Given the description of an element on the screen output the (x, y) to click on. 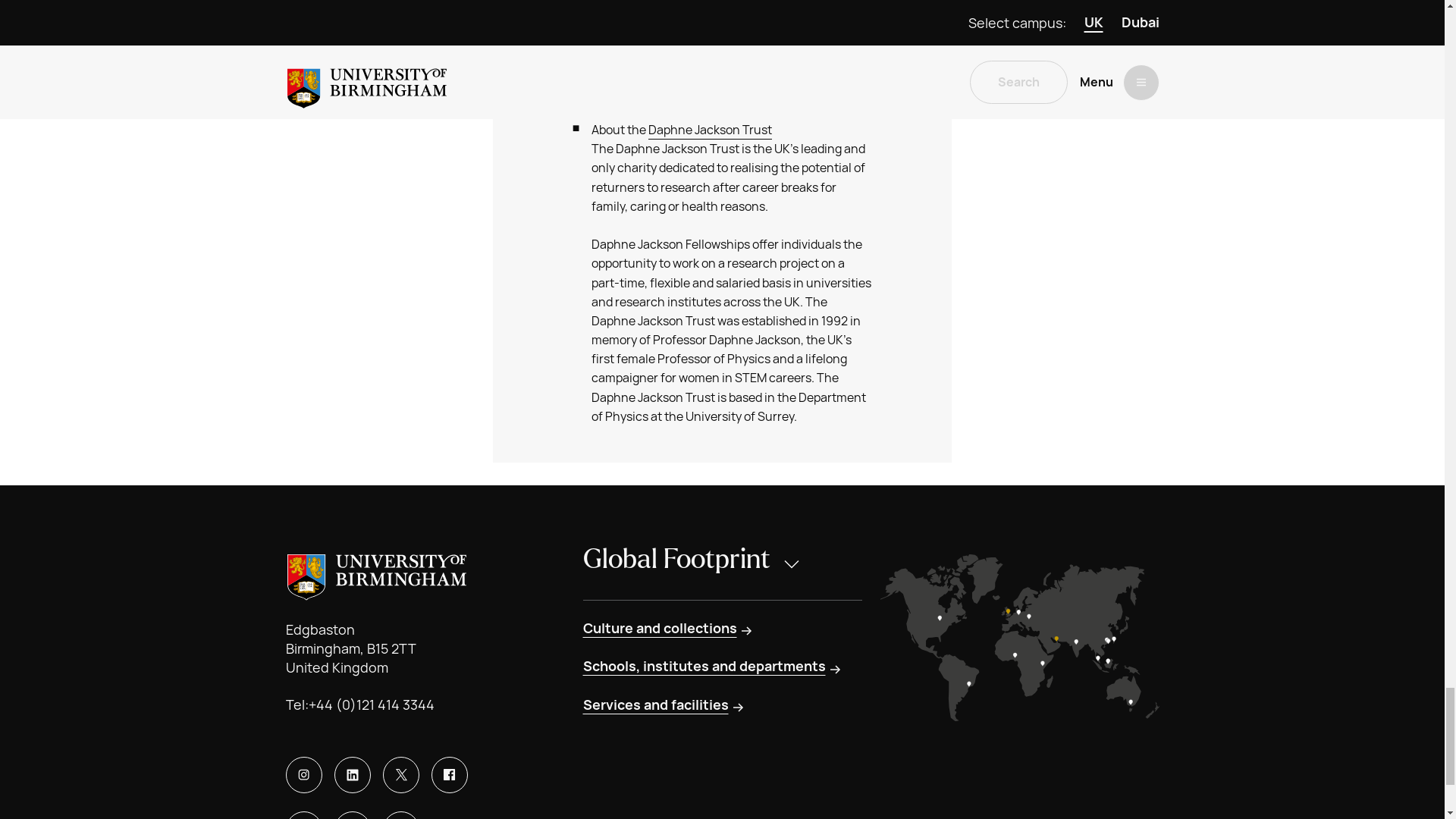
Culture and collections (668, 628)
Schools, institutes and departments (712, 666)
Daphne Jackson Trust (709, 130)
Services and facilities (663, 704)
